Given the description of an element on the screen output the (x, y) to click on. 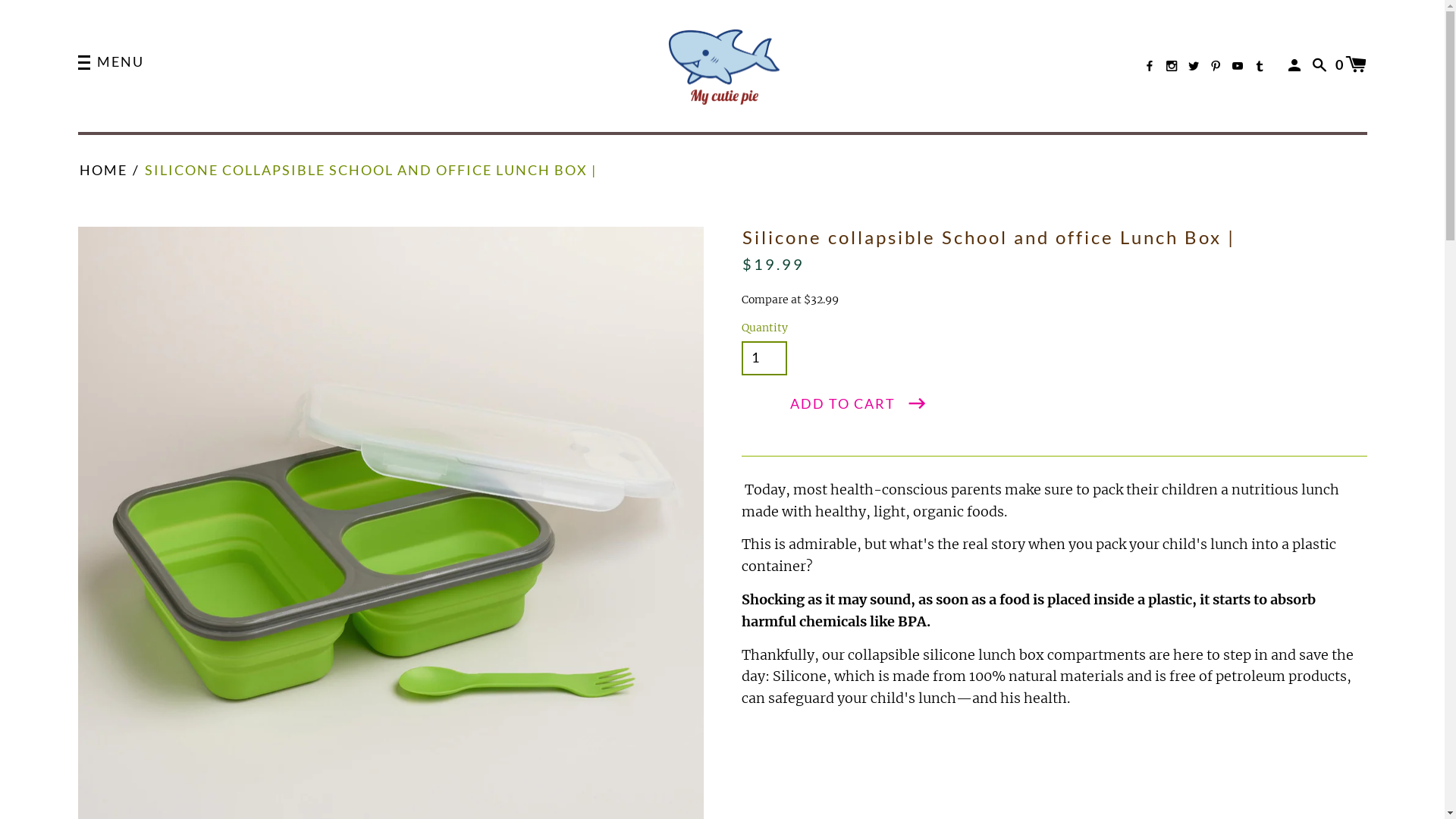
My Cutie Pie on Instagram Element type: hover (1171, 65)
MENU Element type: text (109, 63)
ADD TO CART Element type: text (858, 403)
My Cutie Pie on Pinterest Element type: hover (1215, 65)
HOME Element type: text (102, 170)
My Cutie Pie on Tumblr Element type: hover (1259, 65)
0 Element type: text (1350, 64)
My Cutie Pie on Twitter Element type: hover (1193, 65)
My Cutie Pie on YouTube Element type: hover (1237, 65)
My Cutie Pie on Facebook Element type: hover (1149, 65)
